Given the description of an element on the screen output the (x, y) to click on. 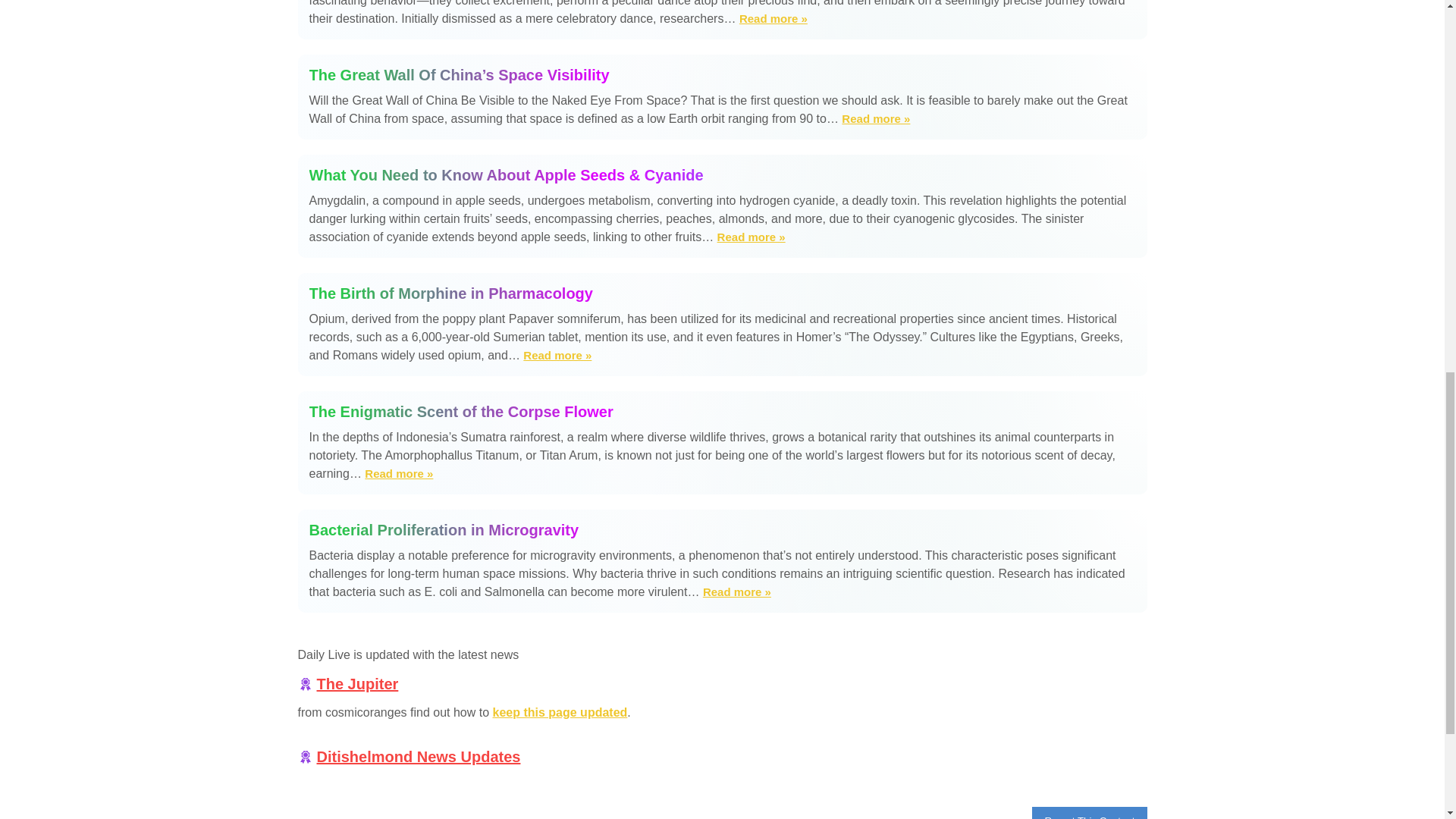
The Birth of Morphine in Pharmacology (721, 293)
Report This Content (1089, 812)
Dung Beetles Use the Milky Way As Navigation (773, 18)
The Birth of Morphine in Pharmacology (721, 293)
The Jupiter (357, 683)
keep this page updated (560, 712)
Ditishelmond News Updates (419, 756)
Bacterial Proliferation in Microgravity (721, 529)
The Enigmatic Scent of the Corpse Flower (721, 411)
